Given the description of an element on the screen output the (x, y) to click on. 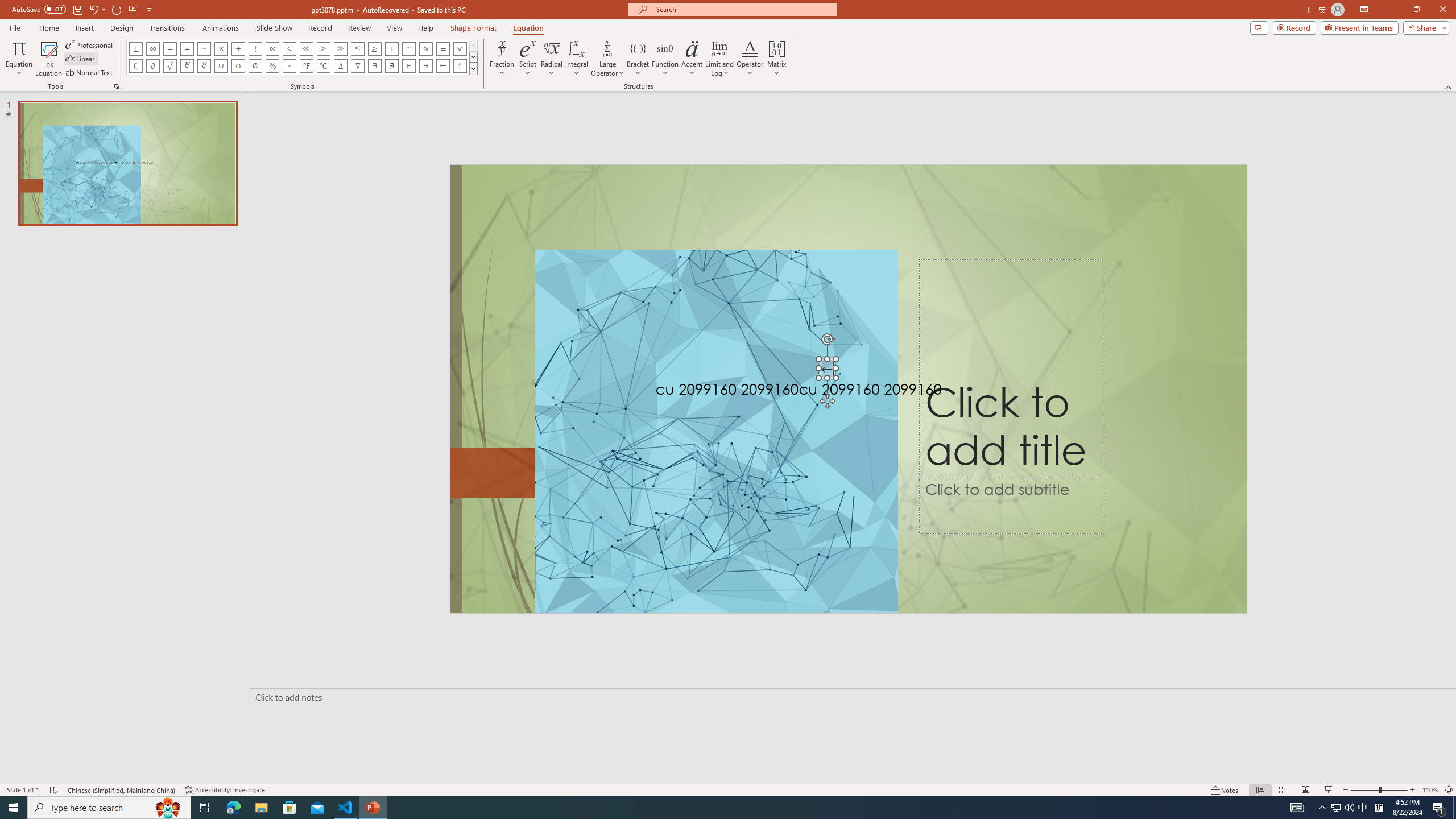
Operator (749, 58)
Equation Symbol Up Arrow (459, 65)
Equation Options... (116, 85)
Equation Symbol Greater Than (322, 48)
Equation Symbol Degrees Fahrenheit (306, 65)
Equation Symbol Much Greater Than (340, 48)
Equation Symbol Increment (340, 65)
Equation Symbol Minus Plus (391, 48)
